Given the description of an element on the screen output the (x, y) to click on. 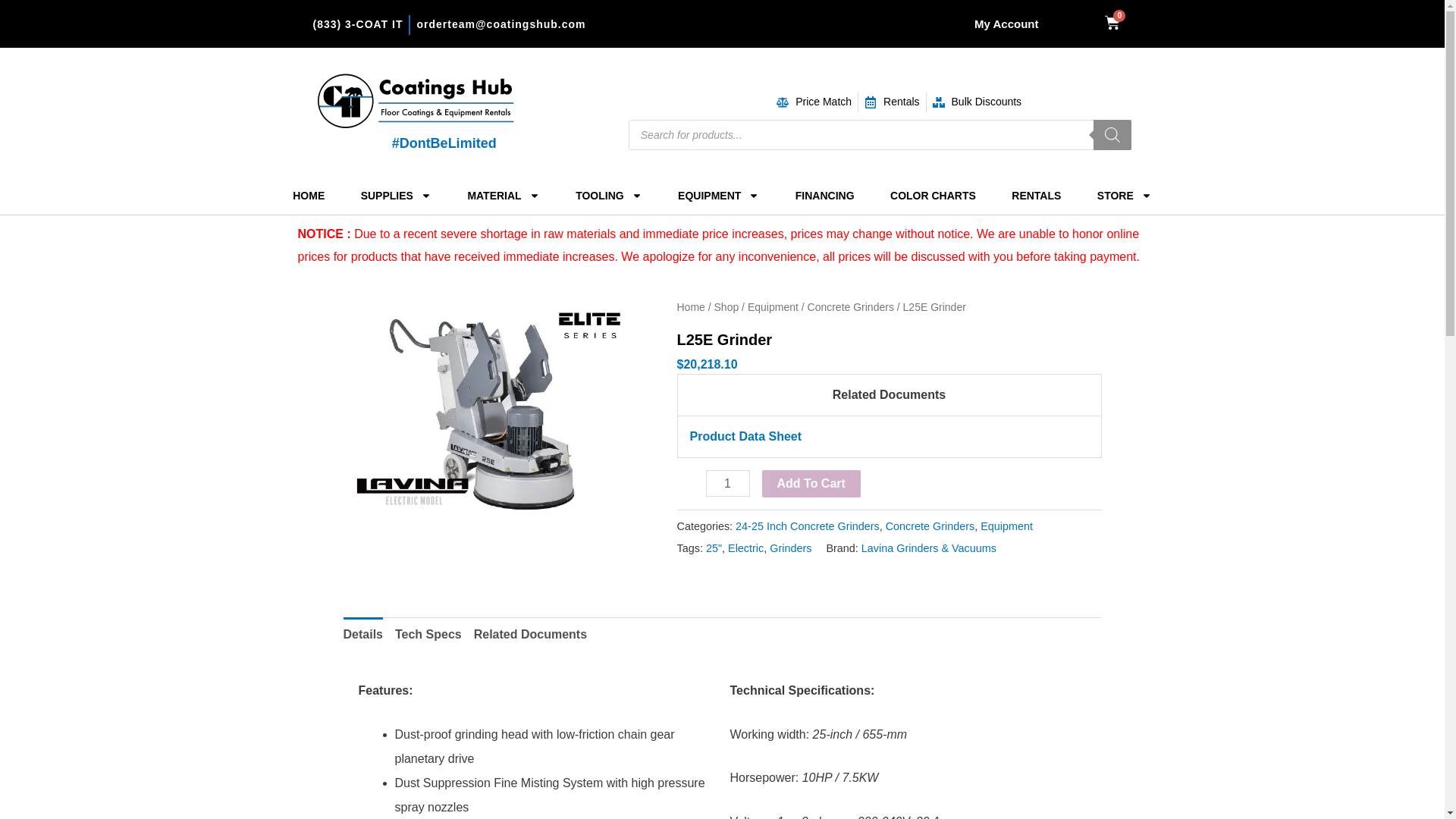
SUPPLIES (395, 195)
Rentals (891, 102)
MATERIAL (503, 195)
My Account (1006, 23)
HOME (1111, 23)
Bulk Discounts (308, 195)
1 (977, 102)
Lavina-L25E-card (726, 483)
